Given the description of an element on the screen output the (x, y) to click on. 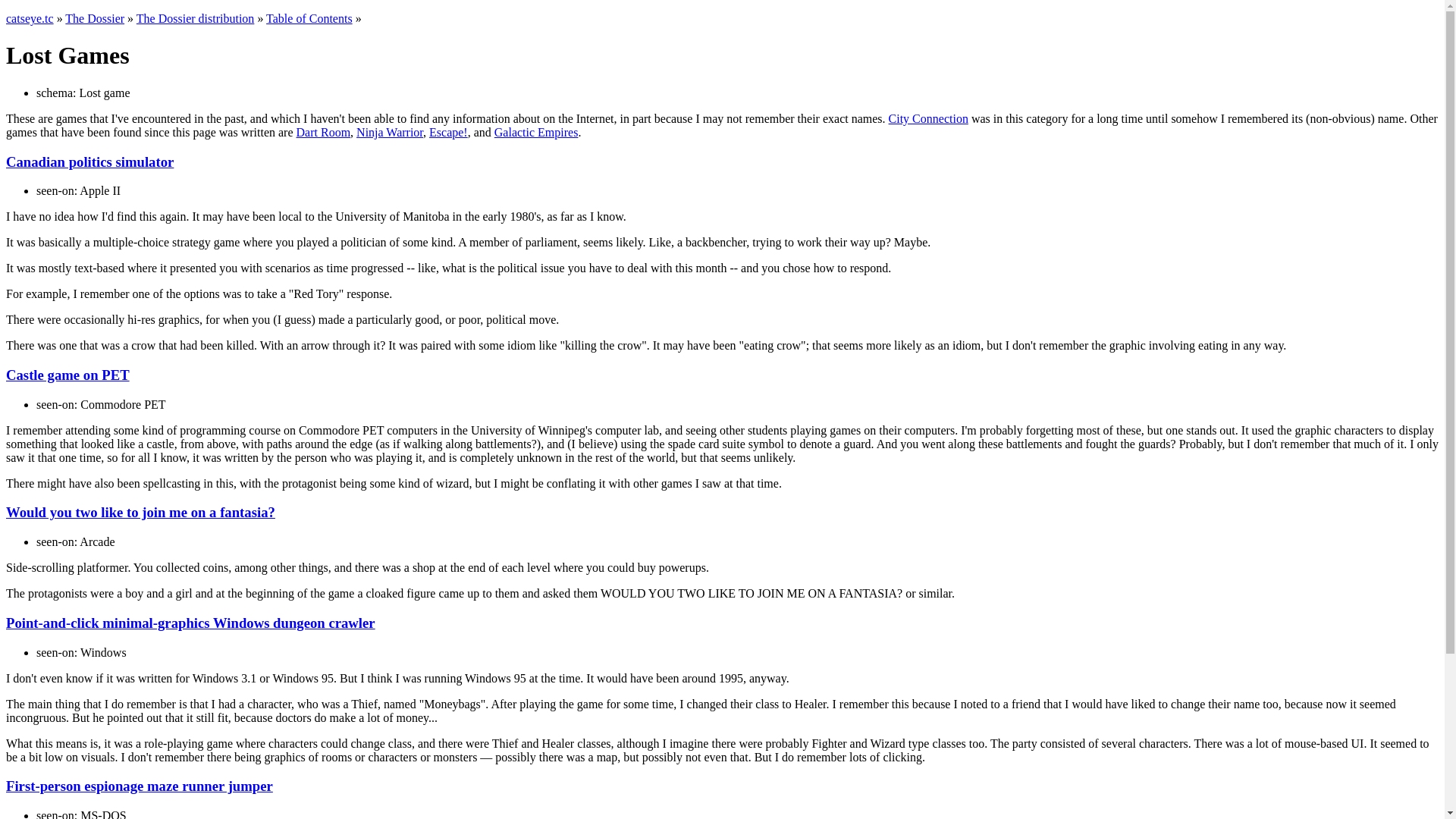
Canadian politics simulator (89, 161)
Escape! (448, 132)
Galactic Empires (536, 132)
City Connection (928, 118)
Dart Room (323, 132)
First-person espionage maze runner jumper (139, 785)
Castle game on PET (67, 374)
The Dossier (94, 18)
The Dossier distribution (195, 18)
Point-and-click minimal-graphics Windows dungeon crawler (190, 622)
